Given the description of an element on the screen output the (x, y) to click on. 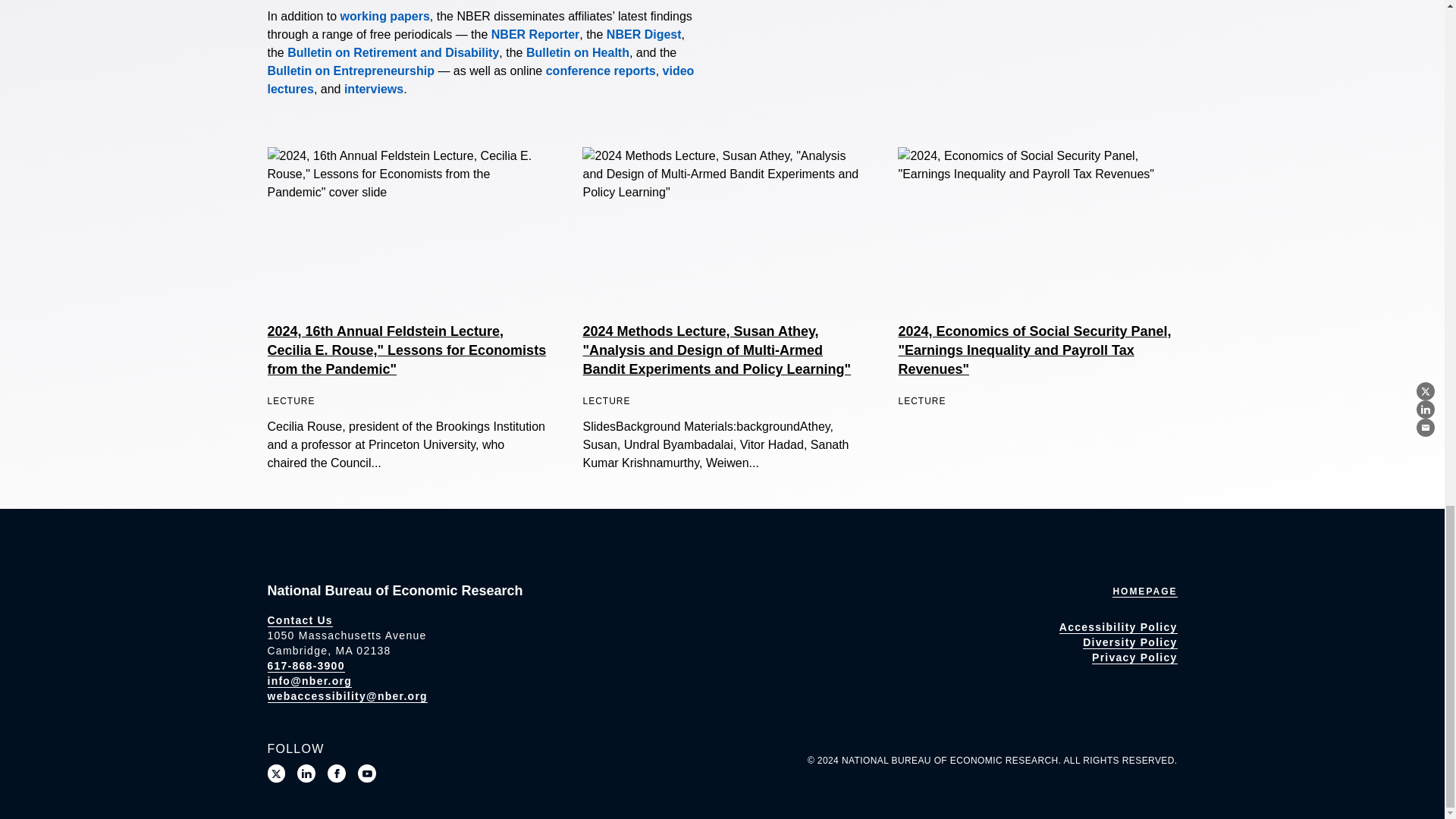
Lectures (480, 79)
Conferences (601, 70)
Research Spotlights (373, 88)
Working Papers (384, 15)
